Given the description of an element on the screen output the (x, y) to click on. 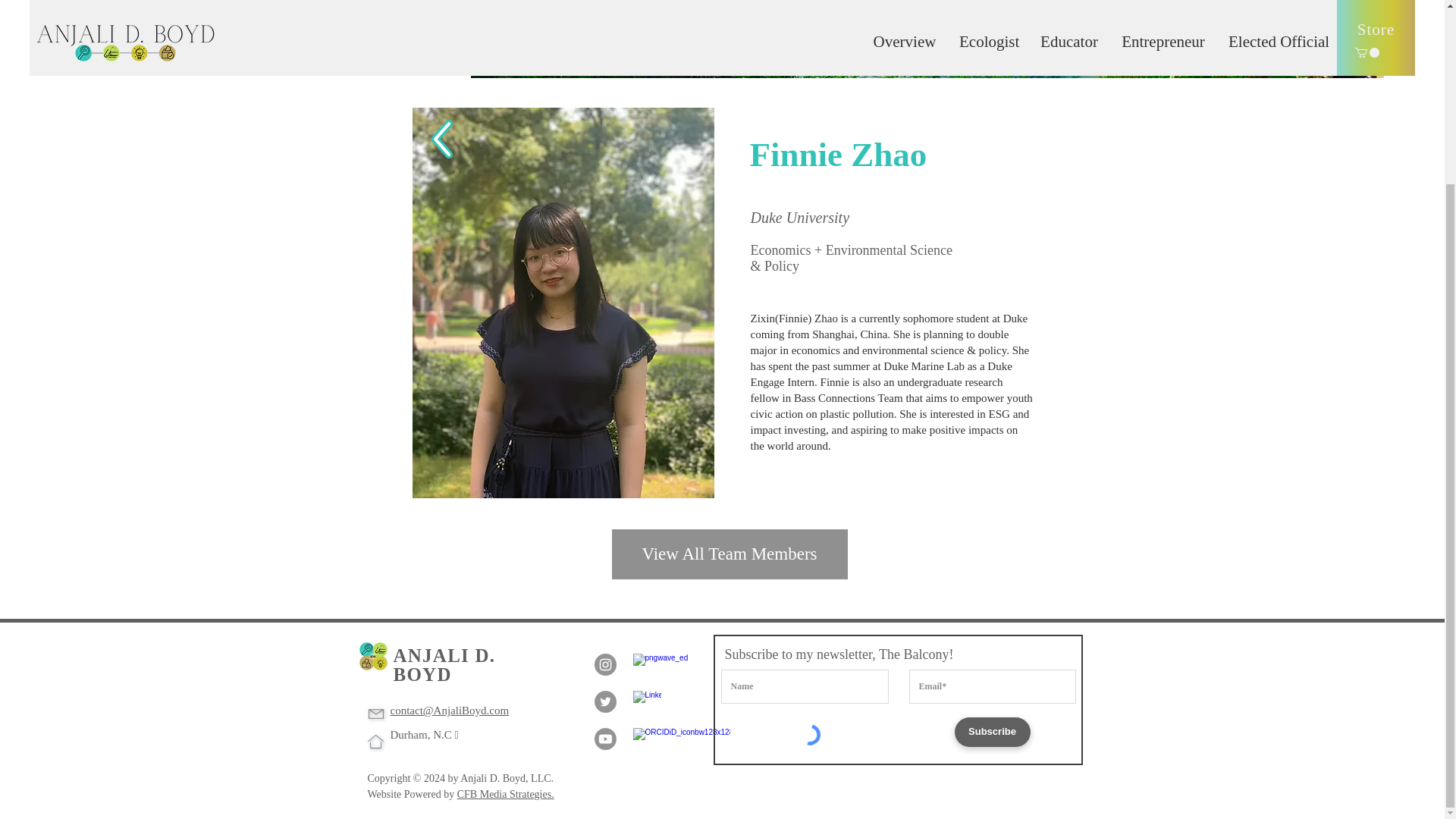
View All Team Members (729, 554)
Subscribe (991, 731)
CFB Media Strategies. (505, 794)
